Given the description of an element on the screen output the (x, y) to click on. 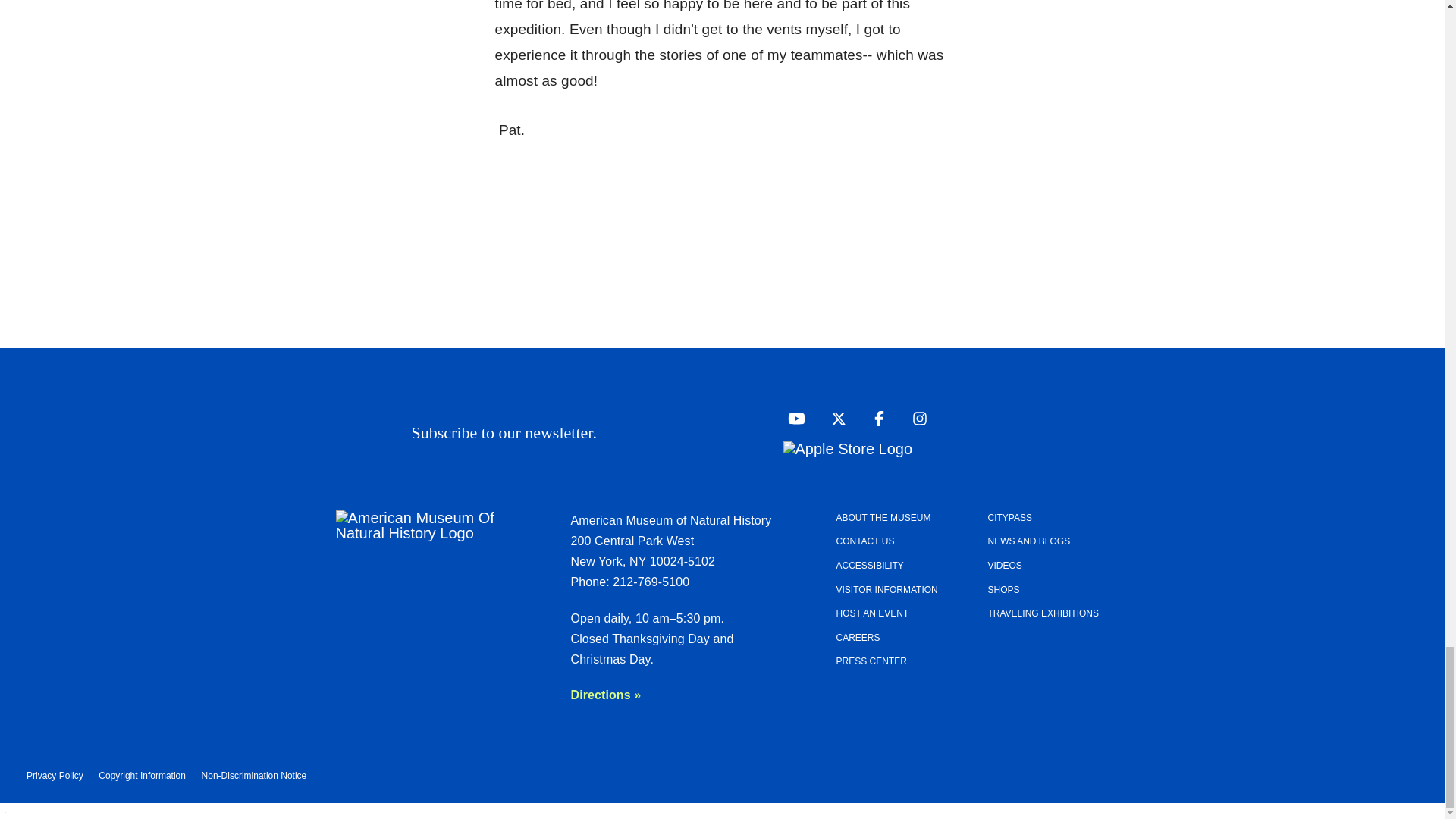
Facebook Profile (874, 417)
Twitter Profile (834, 417)
Subscribe to our newsletter. (691, 432)
YouTube Channel (792, 417)
